Given the description of an element on the screen output the (x, y) to click on. 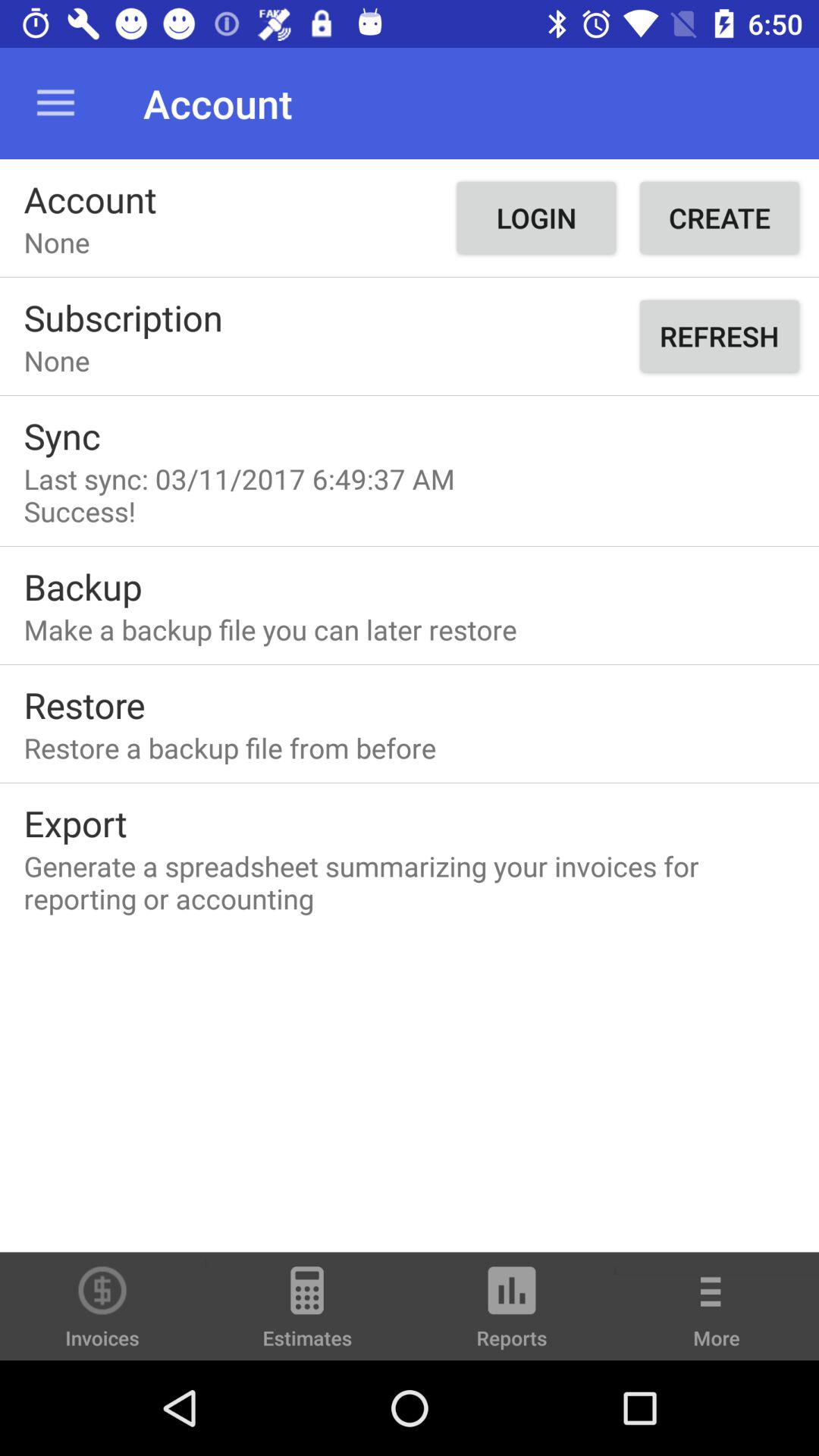
click on the button right to account (536, 217)
click the more option from the bottom right (716, 1317)
click on the button along with the text reports (511, 1312)
select the last but one button in the bottom menu bar (511, 1312)
click on refresh (718, 336)
